Given the description of an element on the screen output the (x, y) to click on. 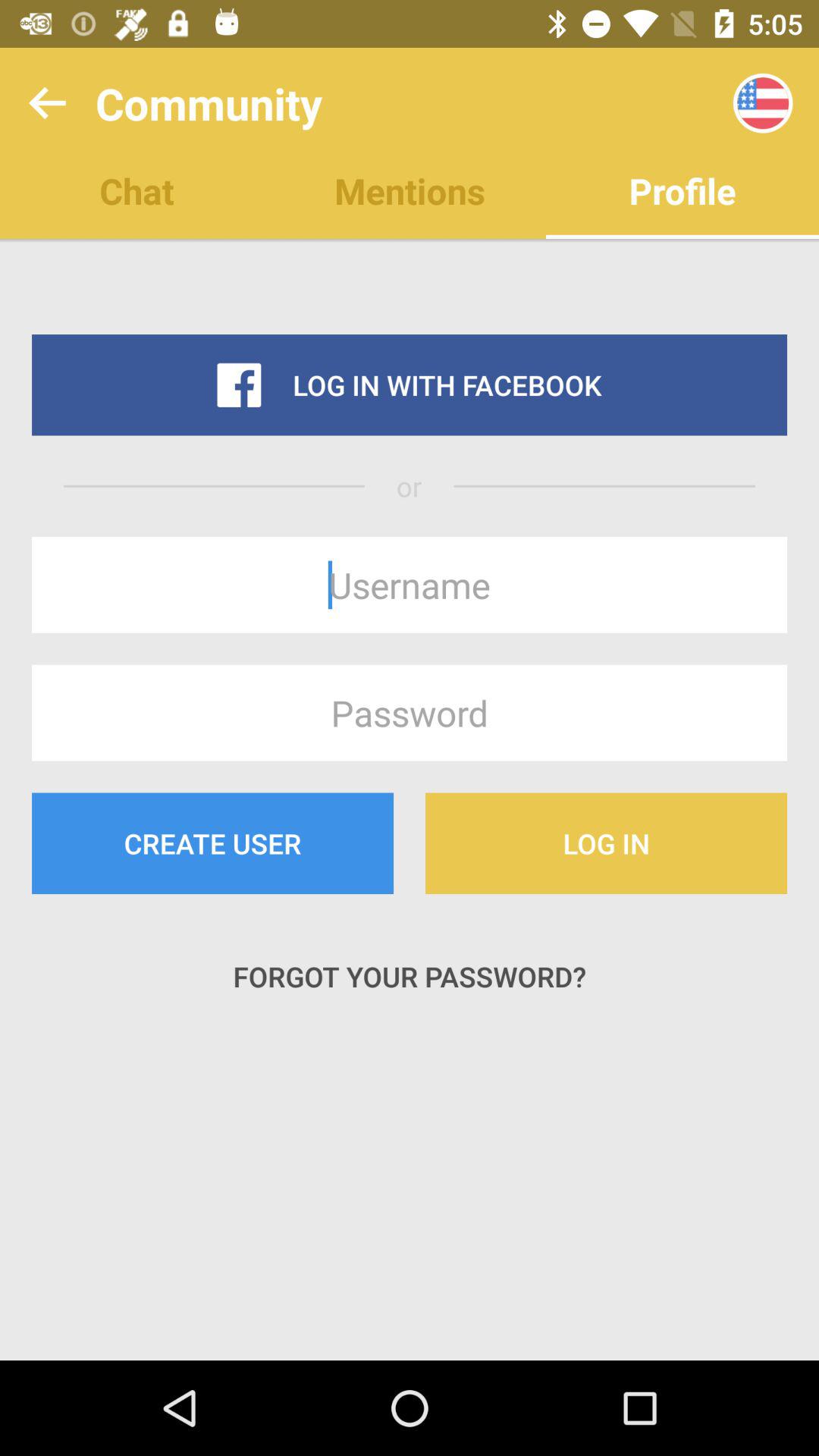
press the item below or icon (409, 584)
